Given the description of an element on the screen output the (x, y) to click on. 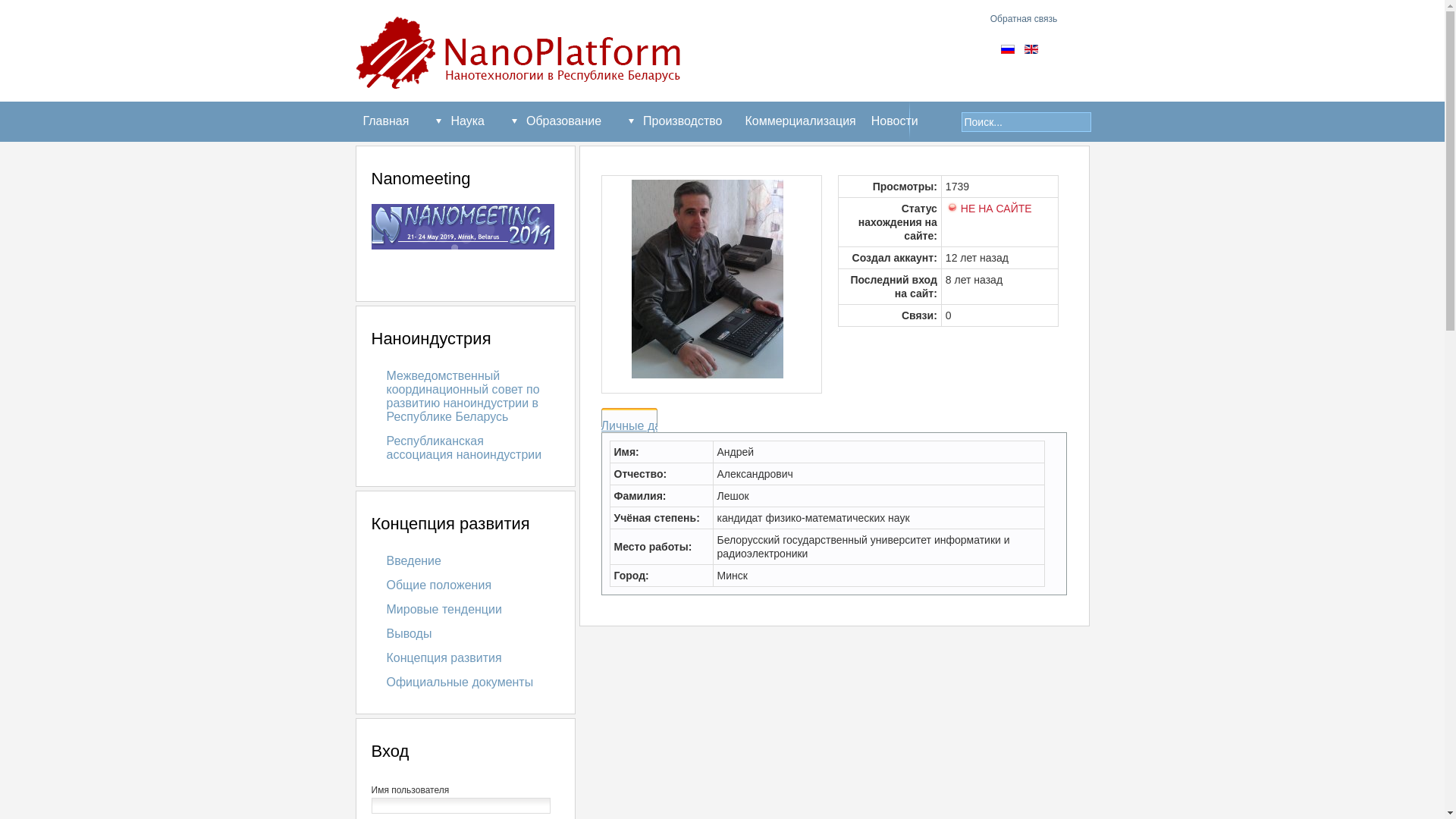
andrei Element type: hover (710, 282)
English (UK) Element type: hover (1031, 48)
